Given the description of an element on the screen output the (x, y) to click on. 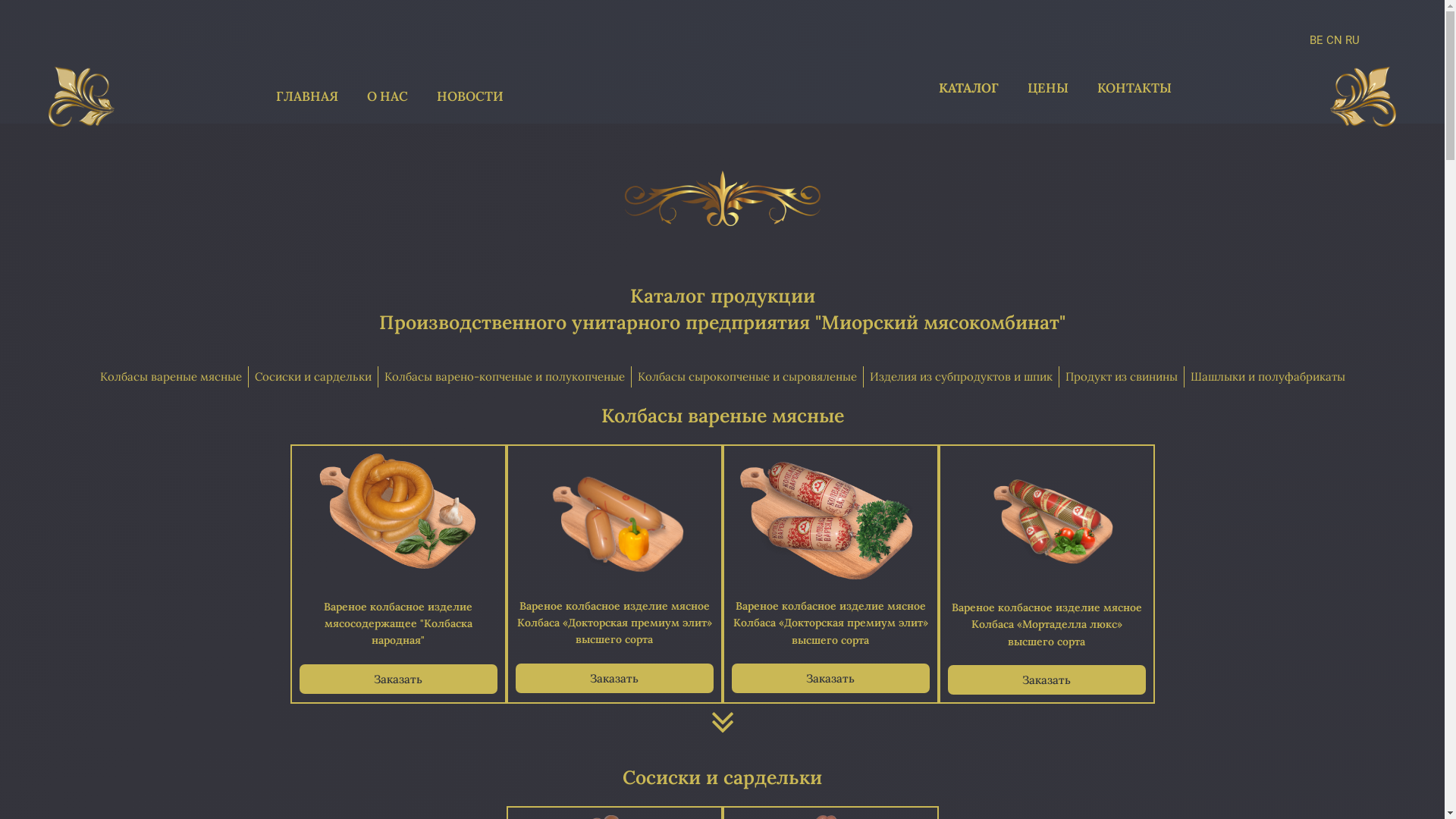
RU Element type: text (1352, 40)
CN Element type: text (1334, 40)
BE Element type: text (1316, 40)
